Given the description of an element on the screen output the (x, y) to click on. 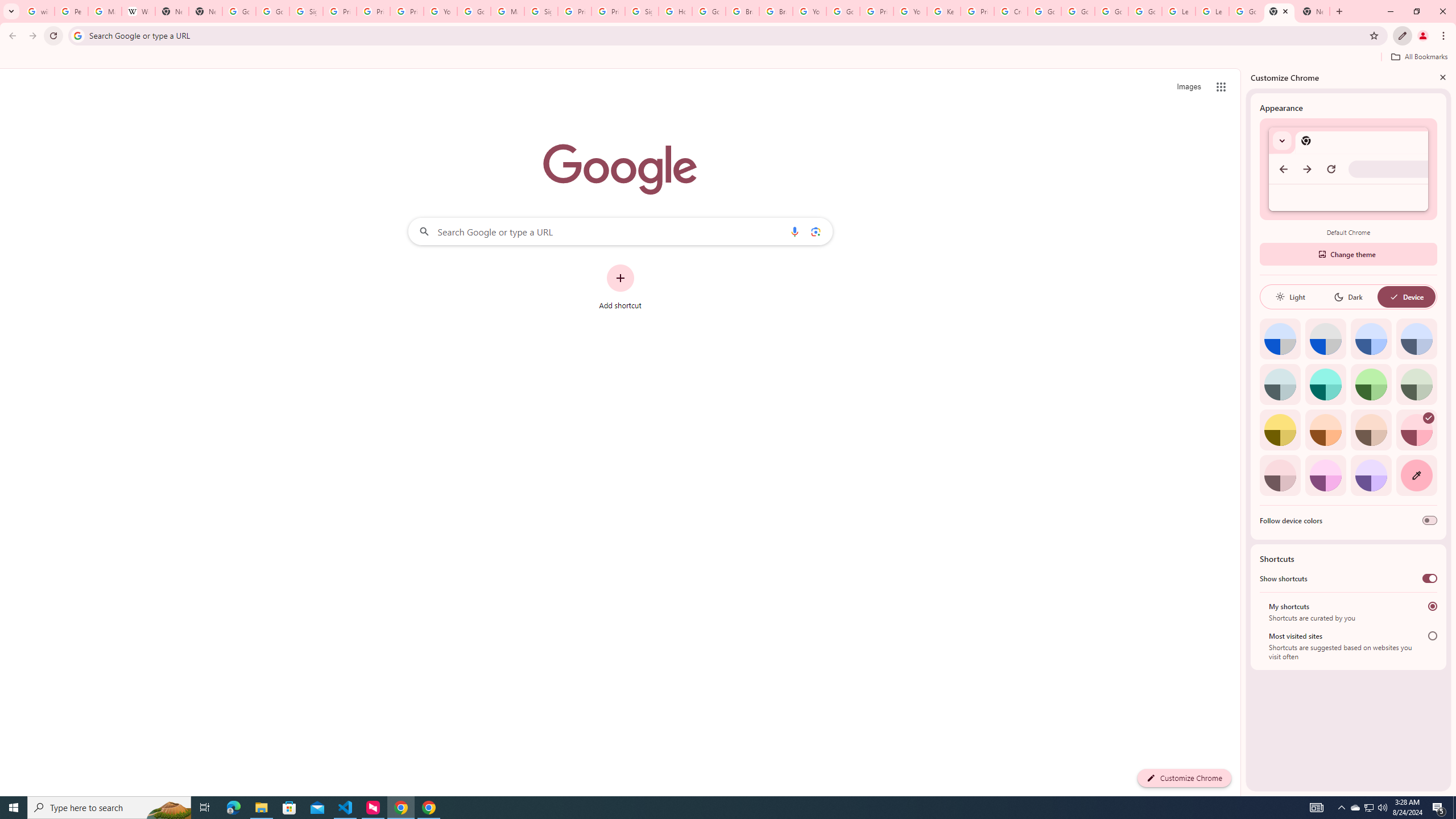
Default Chrome (1348, 169)
Citron (1279, 429)
Google Account Help (842, 11)
Manage your Location History - Google Search Help (104, 11)
Custom color (1416, 475)
Google Drive: Sign-in (272, 11)
Grey (1279, 383)
Grey default color (1325, 338)
Sign in - Google Accounts (305, 11)
